Given the description of an element on the screen output the (x, y) to click on. 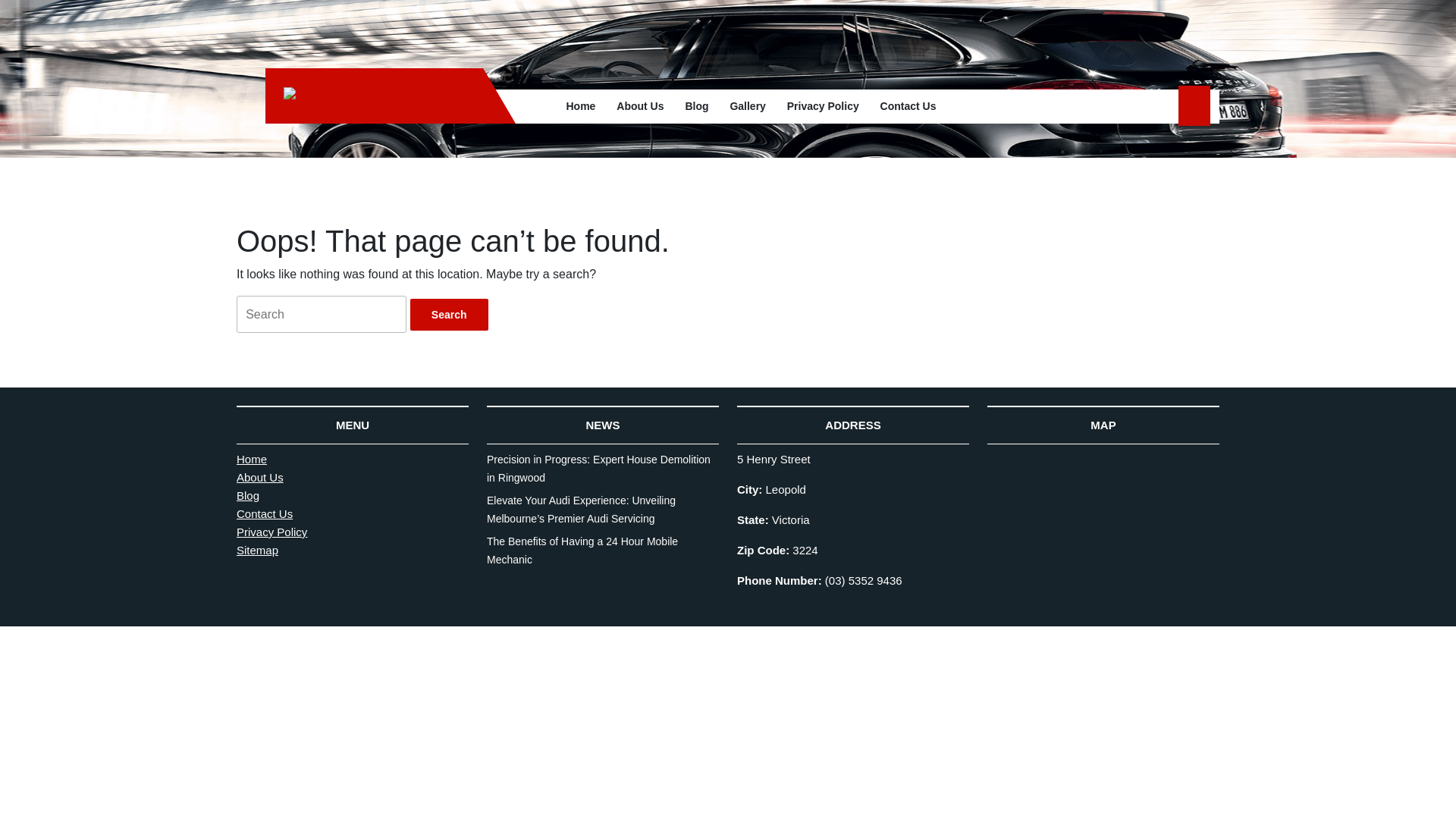
Search Element type: text (449, 314)
The Benefits of Having a 24 Hour Mobile Mechanic Element type: text (581, 550)
Privacy Policy Element type: text (271, 531)
Blog Element type: text (696, 106)
Privacy Policy Element type: text (823, 106)
About Us Element type: text (639, 106)
Gallery Element type: text (747, 106)
Sitemap Element type: text (257, 549)
Home Element type: text (251, 458)
Contact Us Element type: text (264, 513)
Precision in Progress: Expert House Demolition in Ringwood Element type: text (598, 468)
Home Element type: text (580, 106)
About Us Element type: text (259, 476)
Contact Us Element type: text (908, 106)
Blog Element type: text (247, 495)
